Given the description of an element on the screen output the (x, y) to click on. 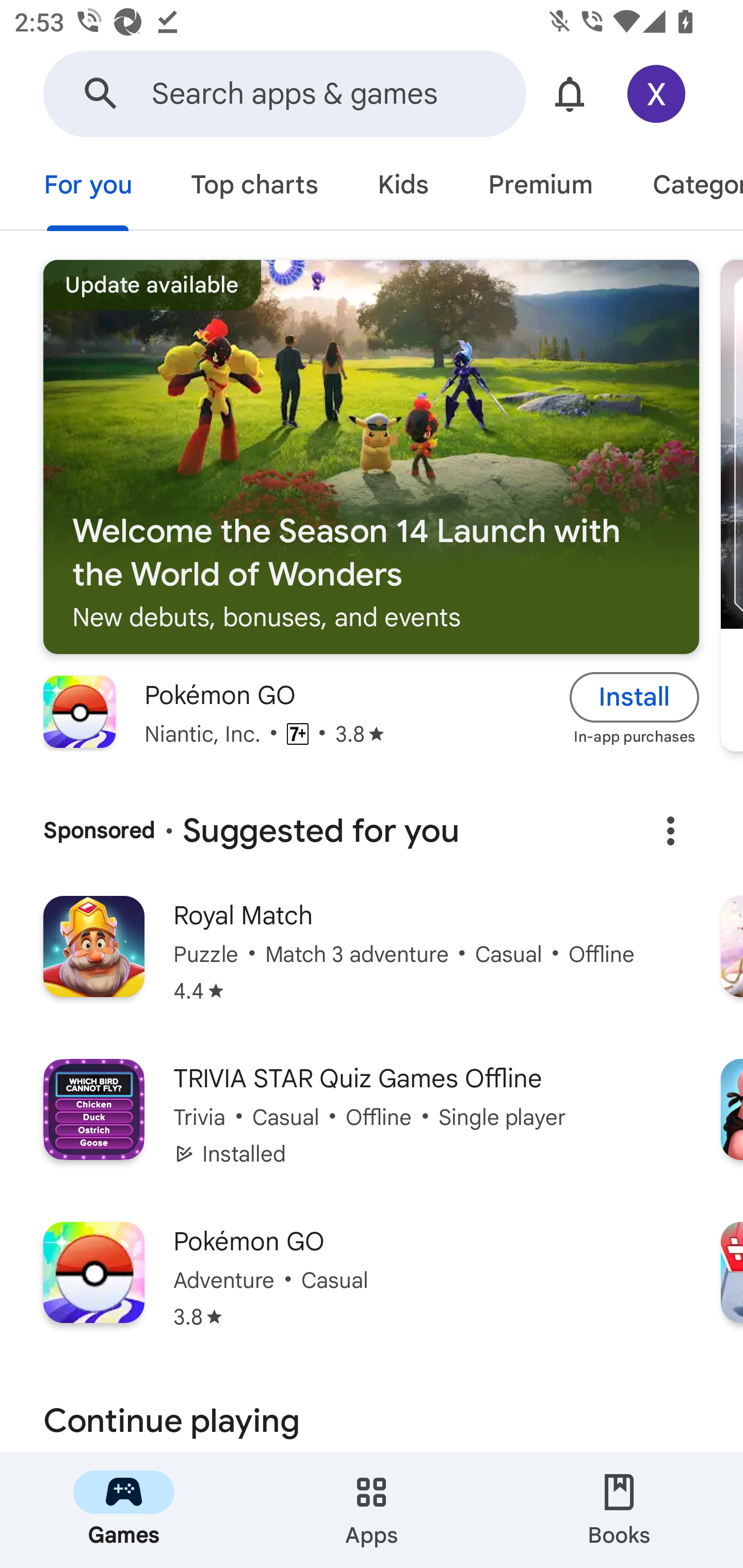
Search Google Play Search apps & games (284, 93)
Search Google Play (100, 93)
Show notifications and offers. (569, 93)
Top charts (254, 187)
Kids (402, 187)
Premium (540, 187)
Categories (682, 187)
Install (634, 696)
About this ad (670, 830)
Pokémon GO
Adventure
Casual
Star rating: 3.8
 (371, 1288)
Apps (371, 1509)
Books (619, 1509)
